Given the description of an element on the screen output the (x, y) to click on. 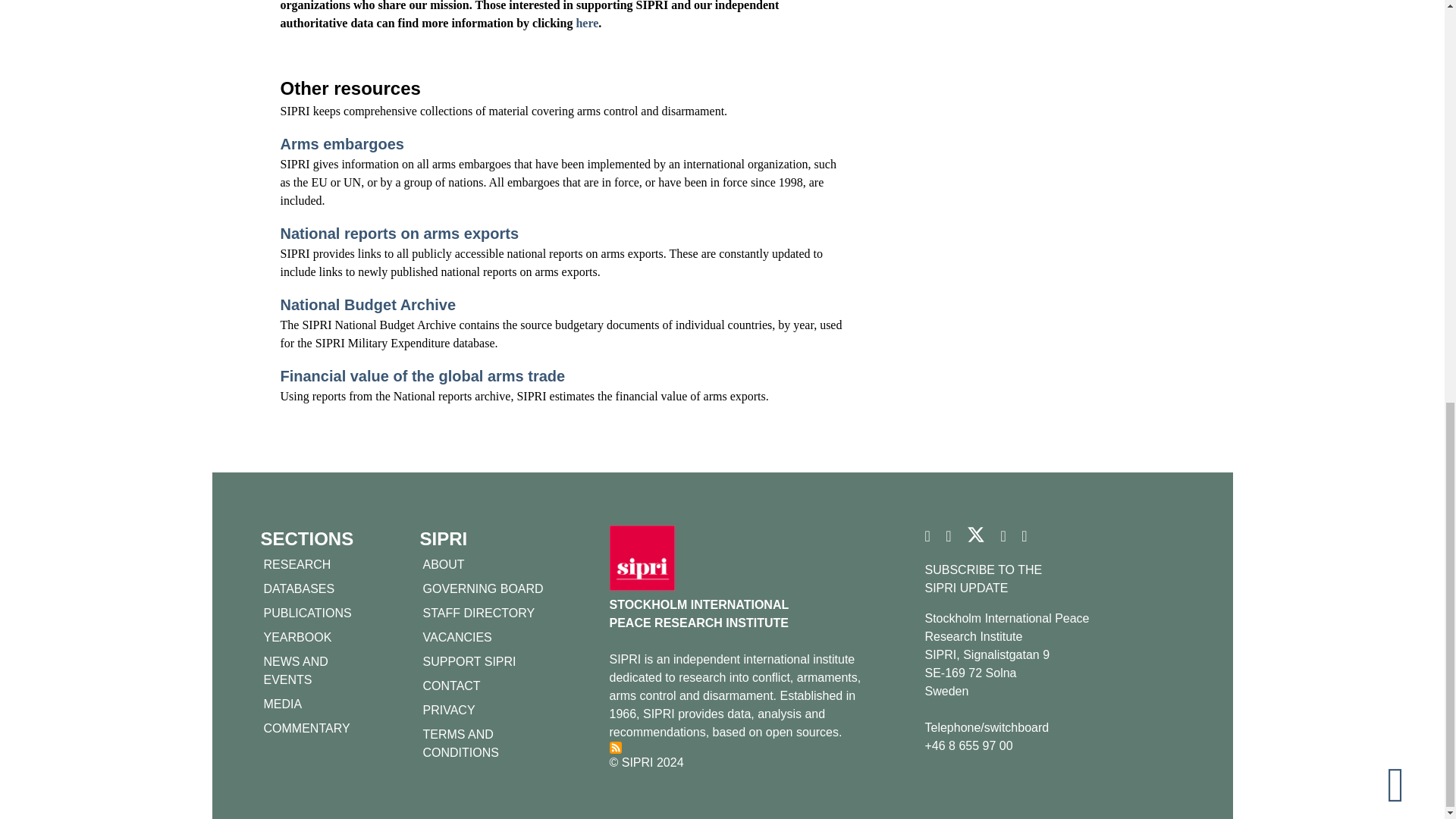
Click to return to the top of the page (1408, 4)
Follow us on Twitter (975, 539)
SIPRI RSS feed (615, 747)
